Given the description of an element on the screen output the (x, y) to click on. 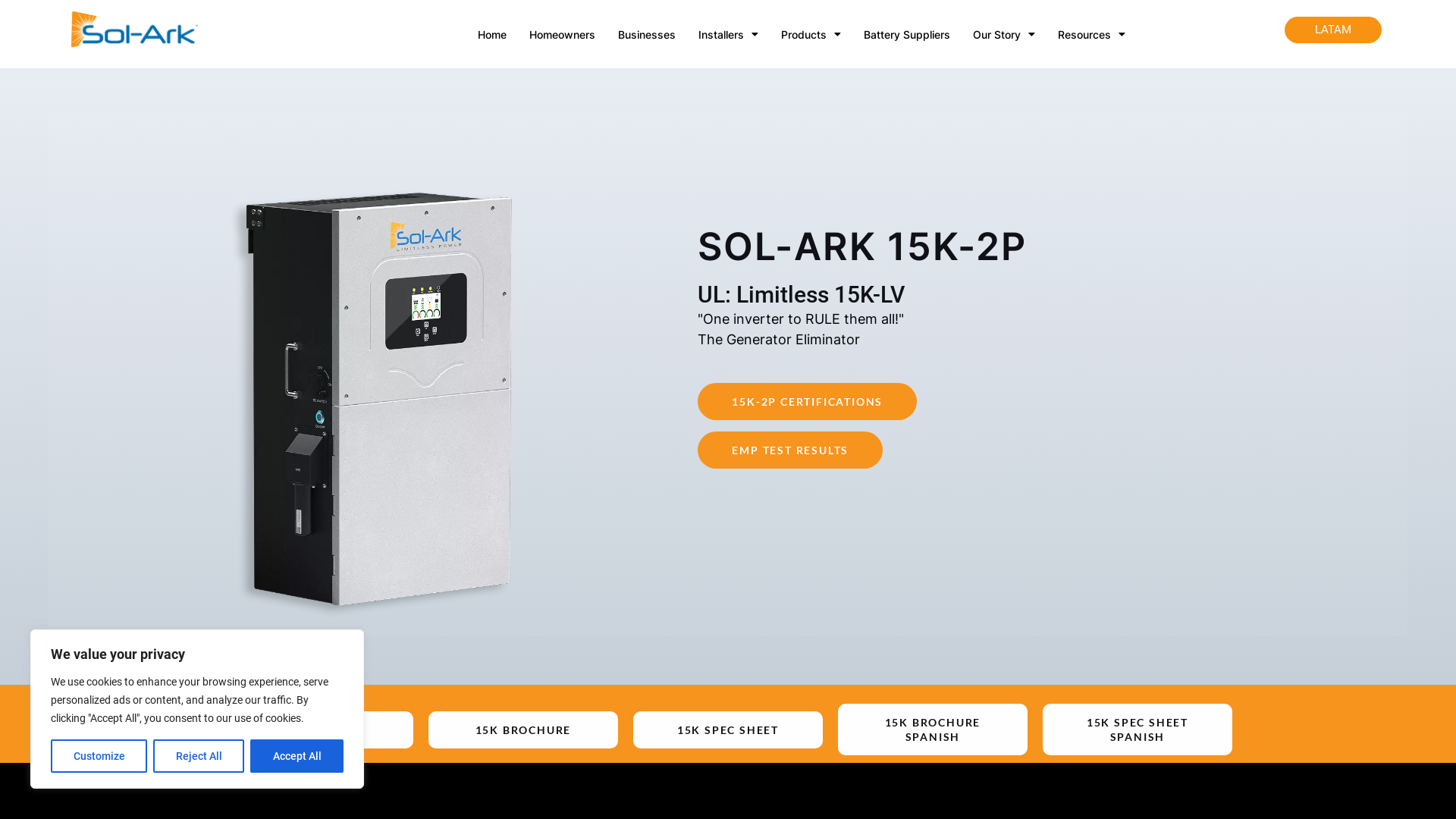
Installers Element type: text (728, 34)
15K-2P CERTIFICATIONS Element type: text (806, 401)
Battery Suppliers Element type: text (906, 34)
Resources Element type: text (1091, 34)
Home Element type: text (491, 34)
15K BROCHURE
SPANISH Element type: text (932, 729)
EMP TEST RESULTS Element type: text (789, 449)
Customize Element type: text (98, 755)
Accept All Element type: text (296, 755)
15K SPEC SHEET
SPANISH Element type: text (1137, 729)
LATAM Element type: text (1332, 29)
Businesses Element type: text (646, 34)
Reject All Element type: text (198, 755)
15K BROCHURE Element type: text (523, 729)
15K SPEC SHEET Element type: text (727, 729)
Homeowners Element type: text (561, 34)
Our Story Element type: text (1003, 34)
15K MANUAL Element type: text (318, 729)
Products Element type: text (810, 34)
